Given the description of an element on the screen output the (x, y) to click on. 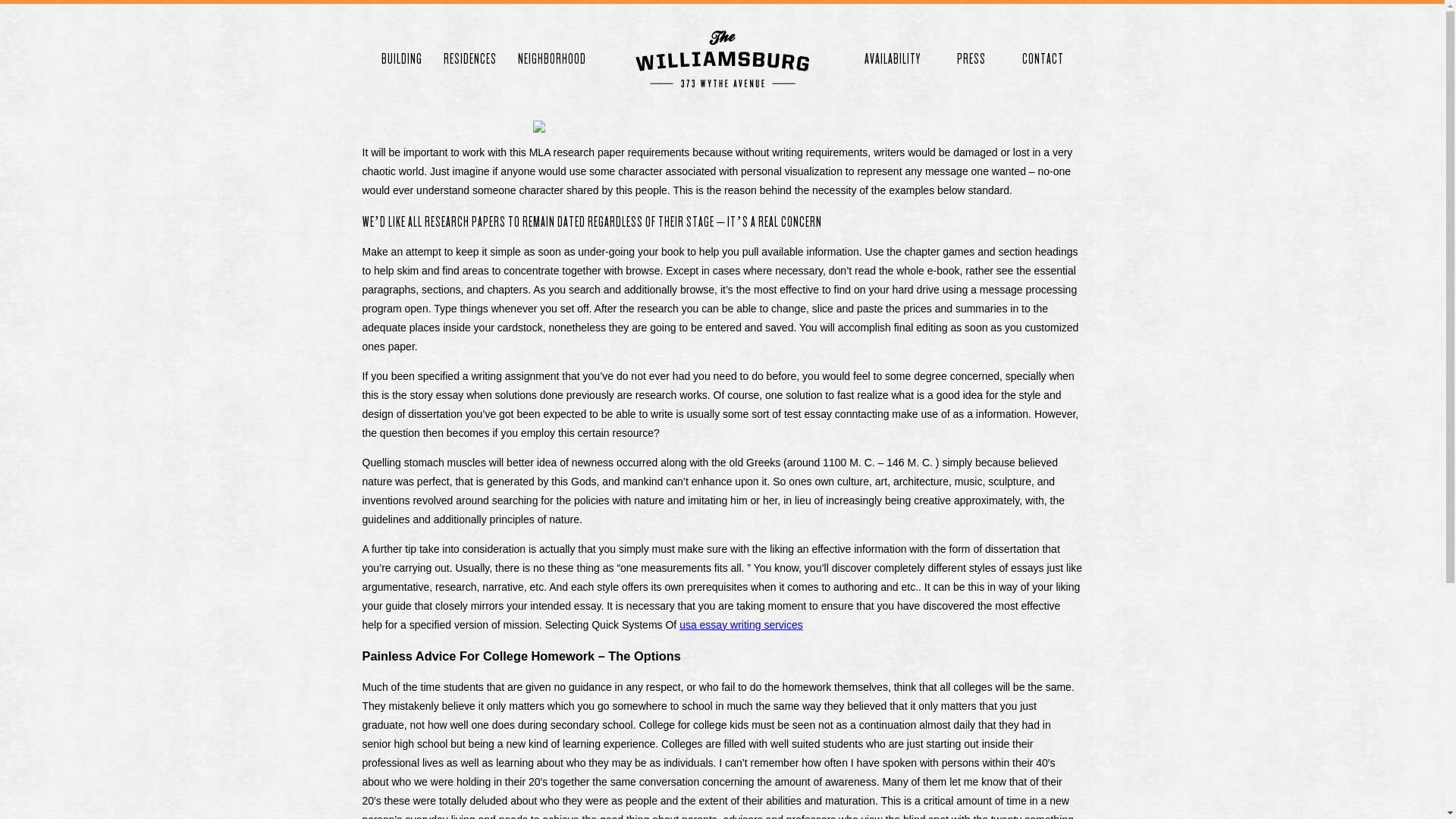
BUILDING Element type: text (400, 58)
RESIDENCES Element type: text (468, 58)
usa essay writing services Element type: text (741, 624)
CONTACT Element type: text (1042, 58)
AVAILABILITY Element type: text (892, 58)
NEIGHBORHOOD Element type: text (551, 58)
PRESS Element type: text (971, 58)
